Given the description of an element on the screen output the (x, y) to click on. 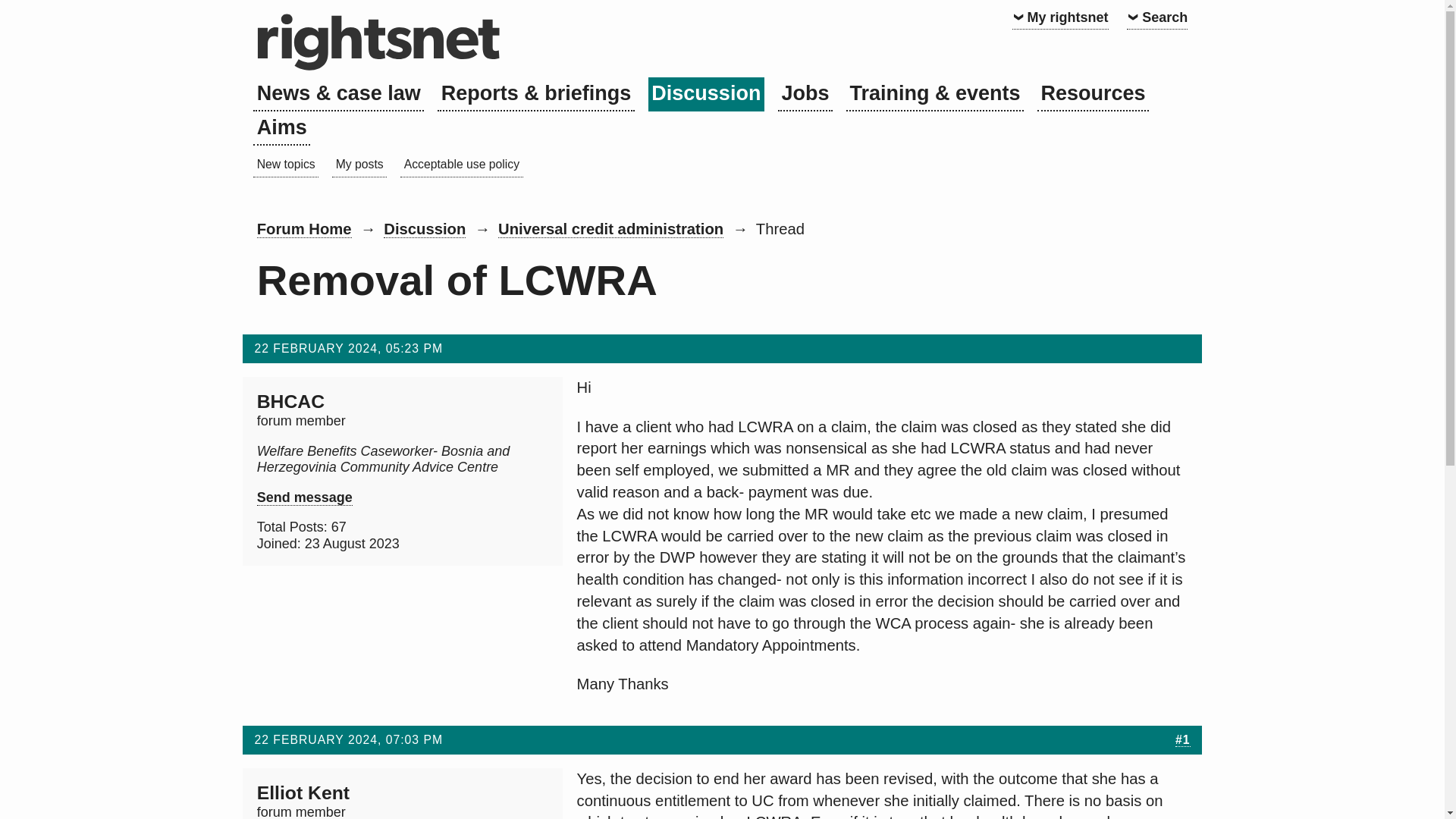
Discussion (705, 93)
Jobs (804, 93)
Resources (1092, 93)
Search (1157, 17)
My rightsnet (1059, 17)
Permalink to this post (1182, 739)
Aims (281, 128)
New topics (285, 164)
Acceptable use policy (461, 164)
My posts (359, 164)
